Given the description of an element on the screen output the (x, y) to click on. 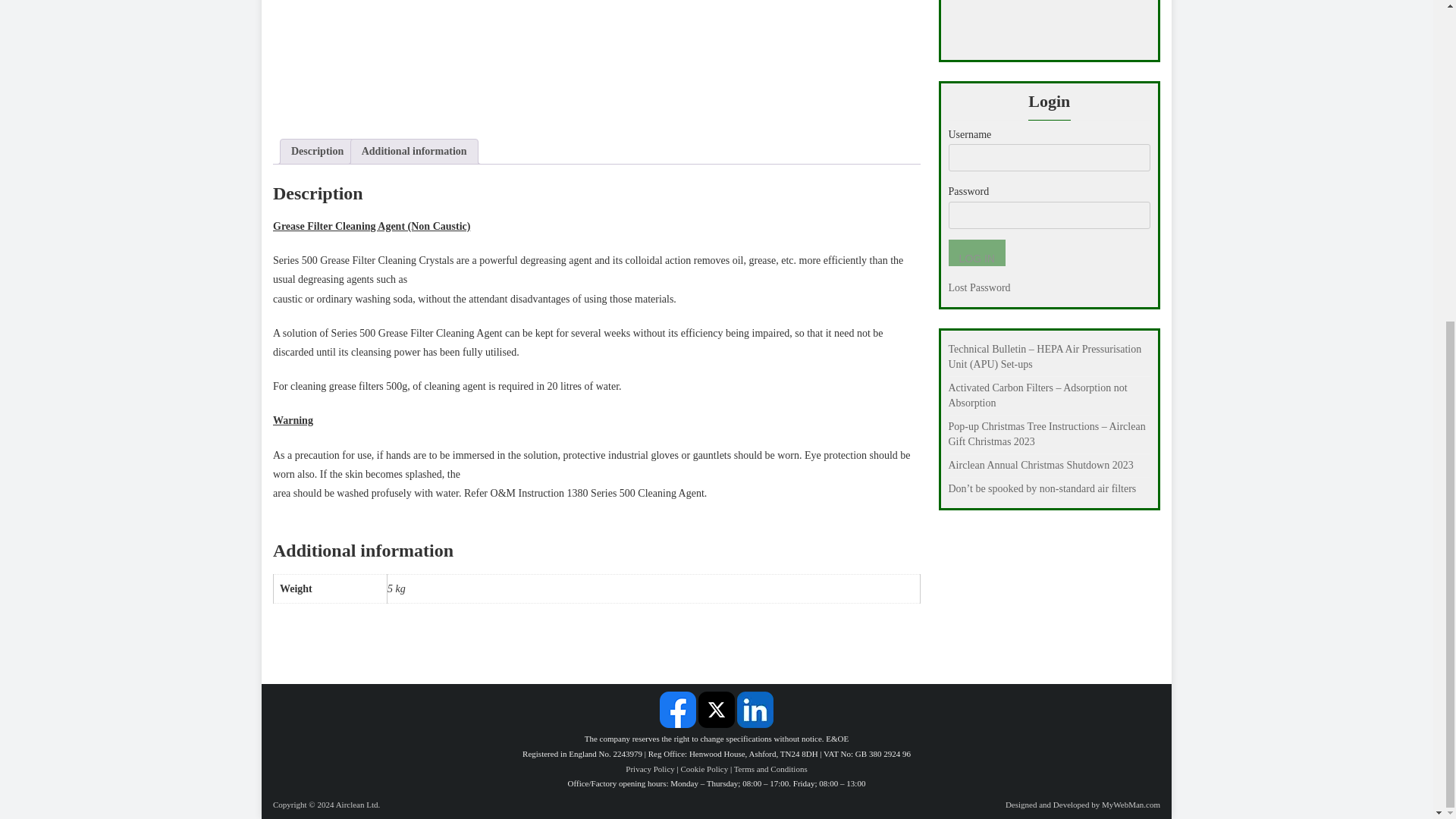
Log In (975, 252)
